Given the description of an element on the screen output the (x, y) to click on. 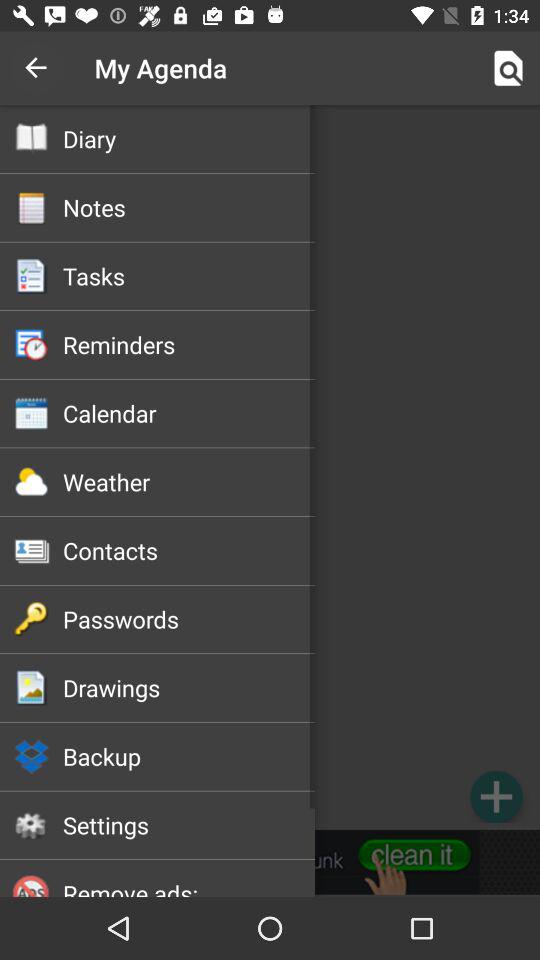
swipe until settings item (188, 825)
